Given the description of an element on the screen output the (x, y) to click on. 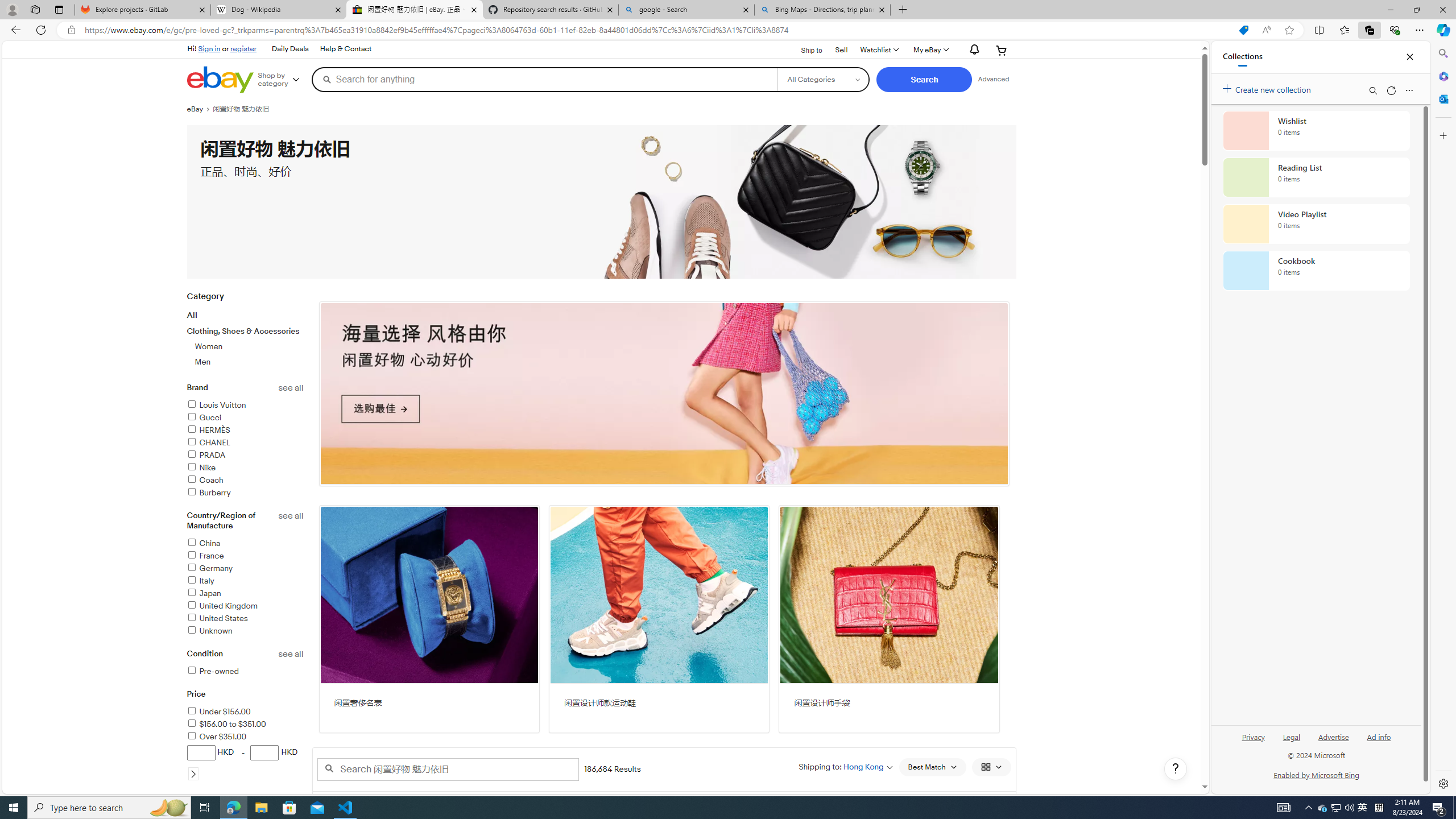
Louis Vuitton (216, 405)
HKD-HKD (245, 761)
United States (216, 618)
$156.00 to $351.00 (226, 723)
Select a category for search (823, 78)
Pre-owned (212, 671)
Women (208, 346)
